Given the description of an element on the screen output the (x, y) to click on. 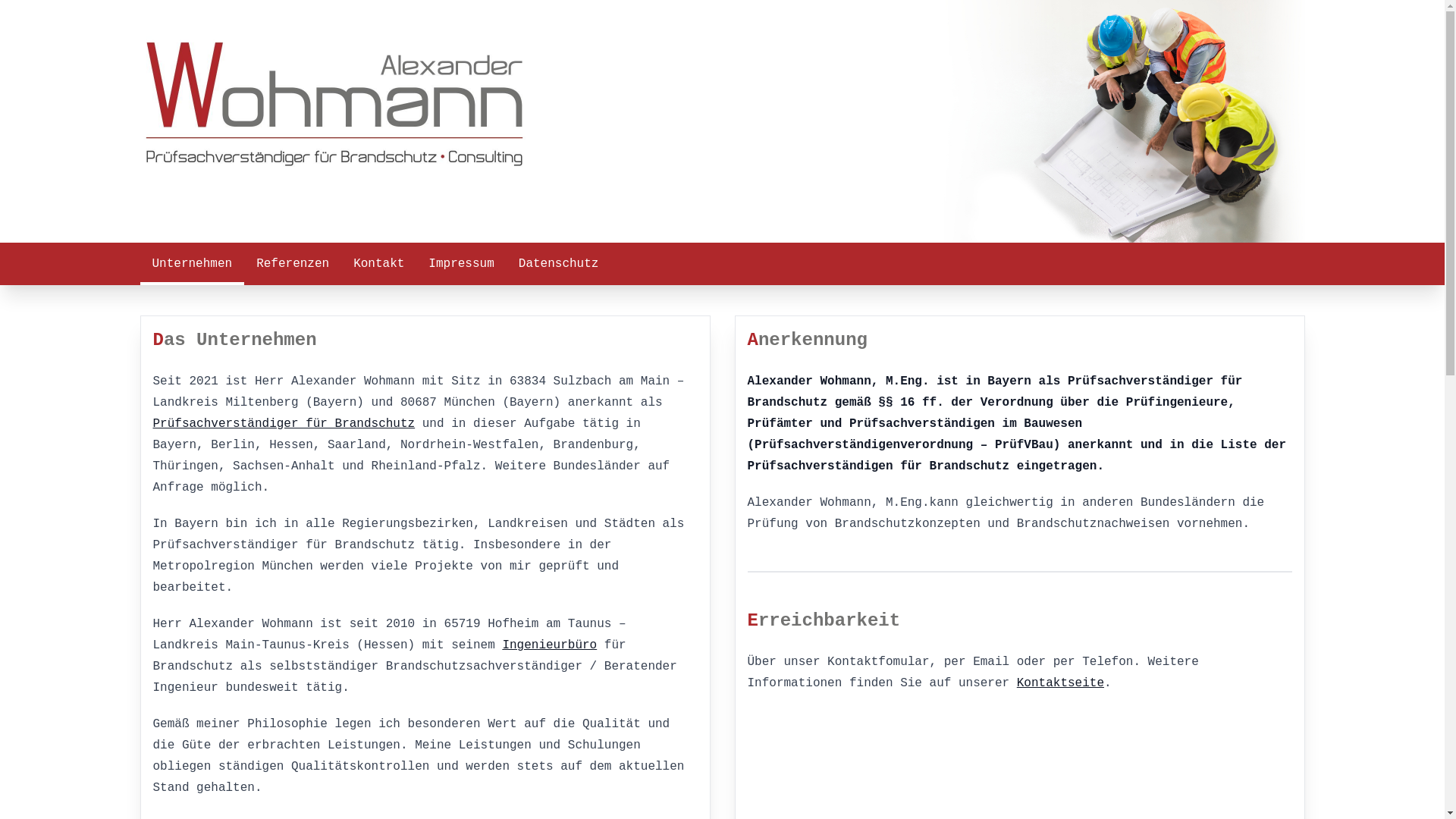
Kontakt Element type: text (378, 263)
Unternehmen Element type: text (191, 263)
Referenzen Element type: text (292, 263)
Kontaktseite Element type: text (1060, 683)
Impressum Element type: text (460, 263)
Datenschutz Element type: text (558, 263)
